Given the description of an element on the screen output the (x, y) to click on. 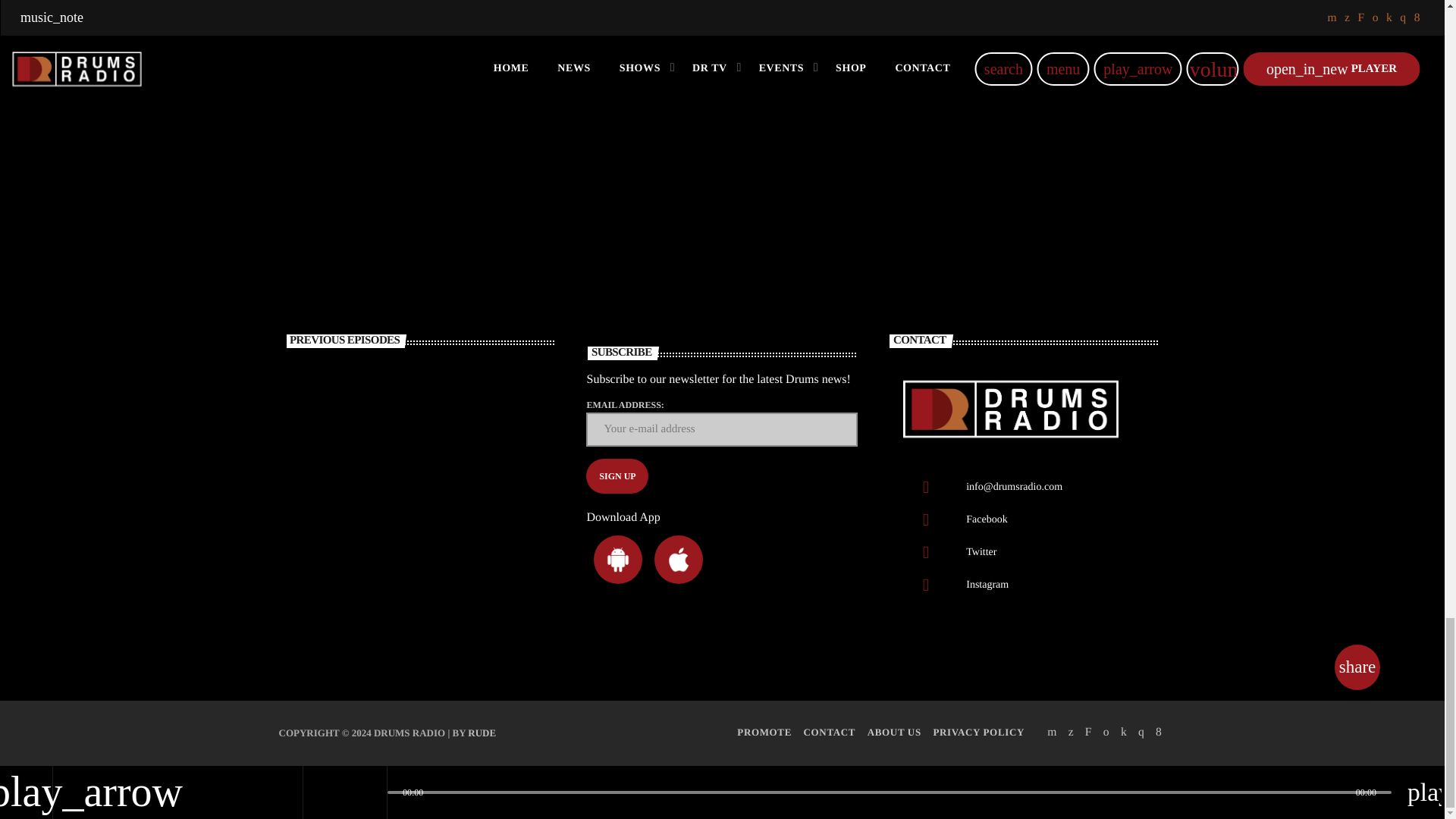
Sign up (616, 475)
